Given the description of an element on the screen output the (x, y) to click on. 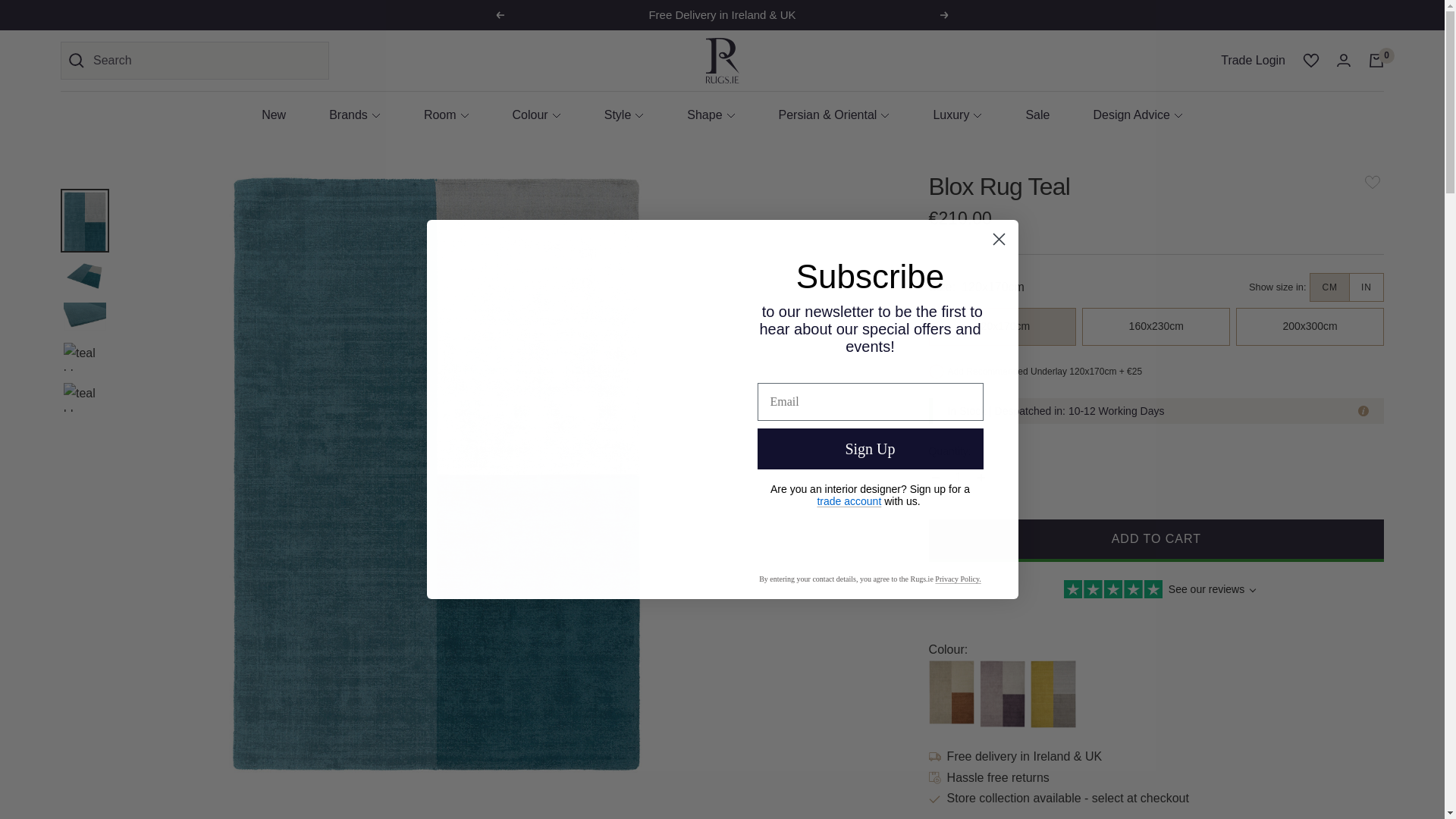
New (273, 115)
Blox Rug Copper (951, 691)
Colour (536, 115)
Trade Login (1253, 60)
Style (624, 115)
Sale (1037, 115)
Next (944, 14)
Customer reviews powered by Trustpilot (1156, 590)
Blox Rug Mustard (1052, 694)
Luxury (957, 115)
0 (1376, 60)
Rugs.ie (721, 60)
1 (957, 477)
